Given the description of an element on the screen output the (x, y) to click on. 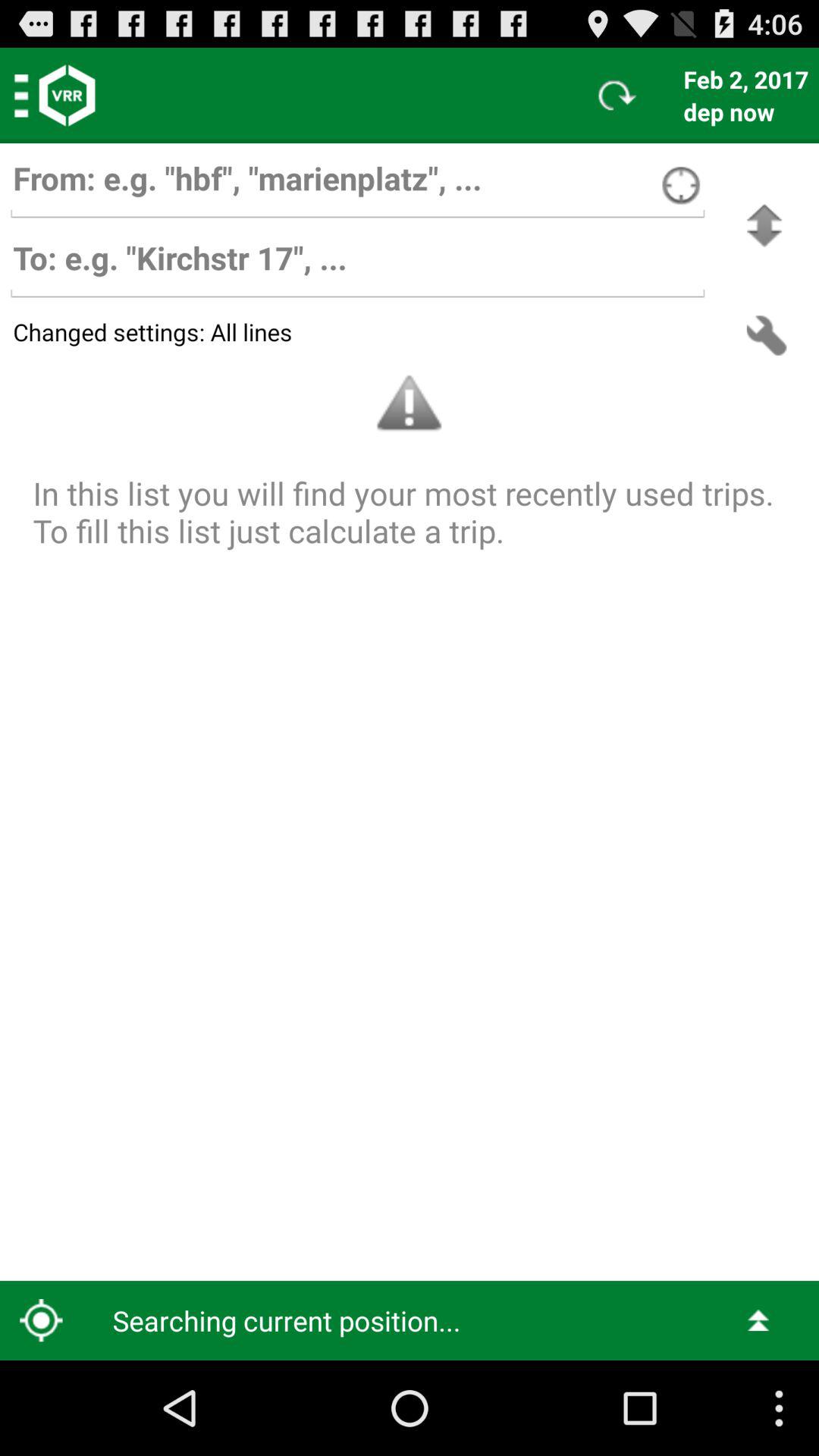
press icon to the left of feb 2, 2017 item (617, 95)
